Given the description of an element on the screen output the (x, y) to click on. 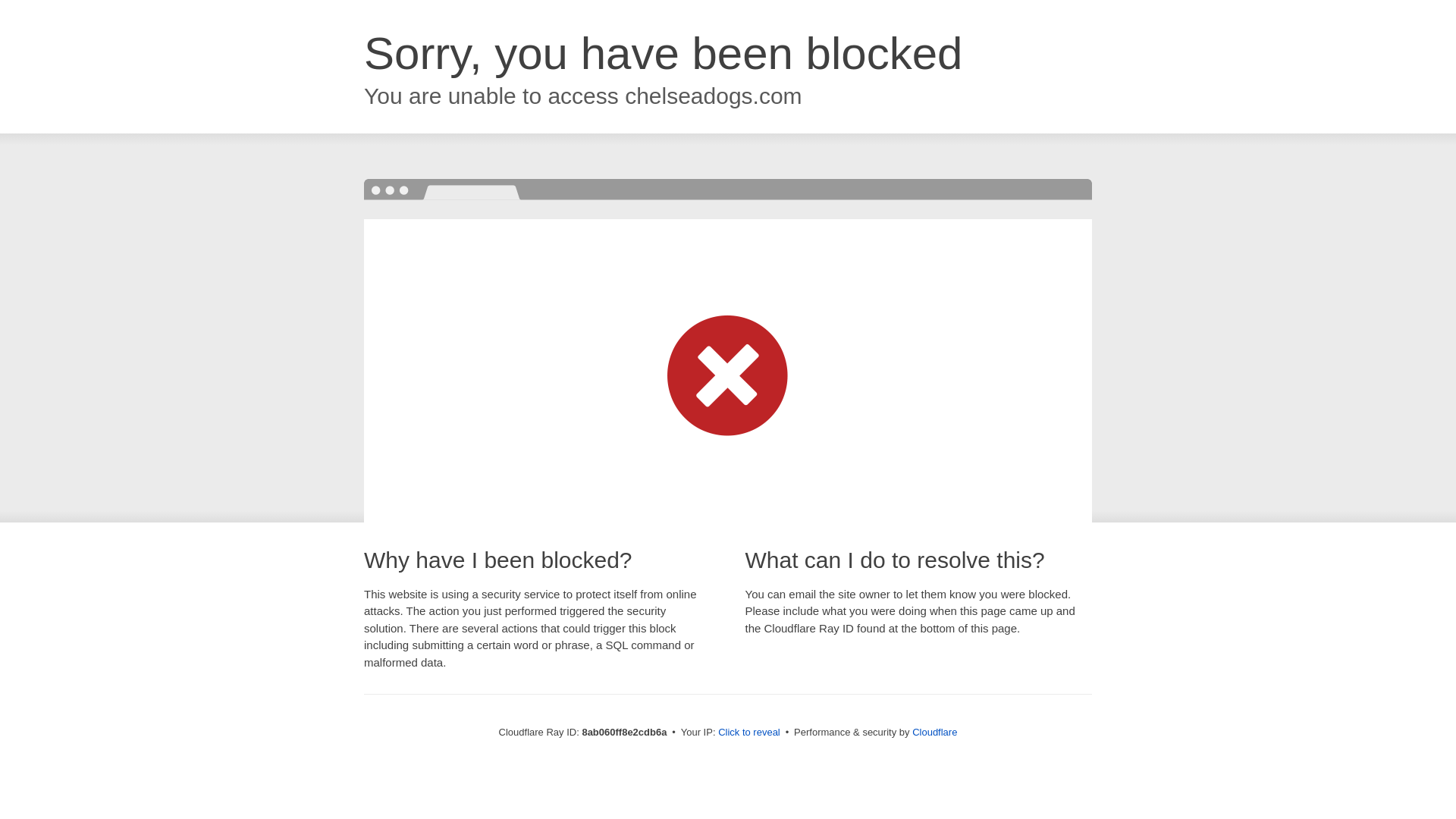
Click to reveal (748, 732)
Cloudflare (934, 731)
